Given the description of an element on the screen output the (x, y) to click on. 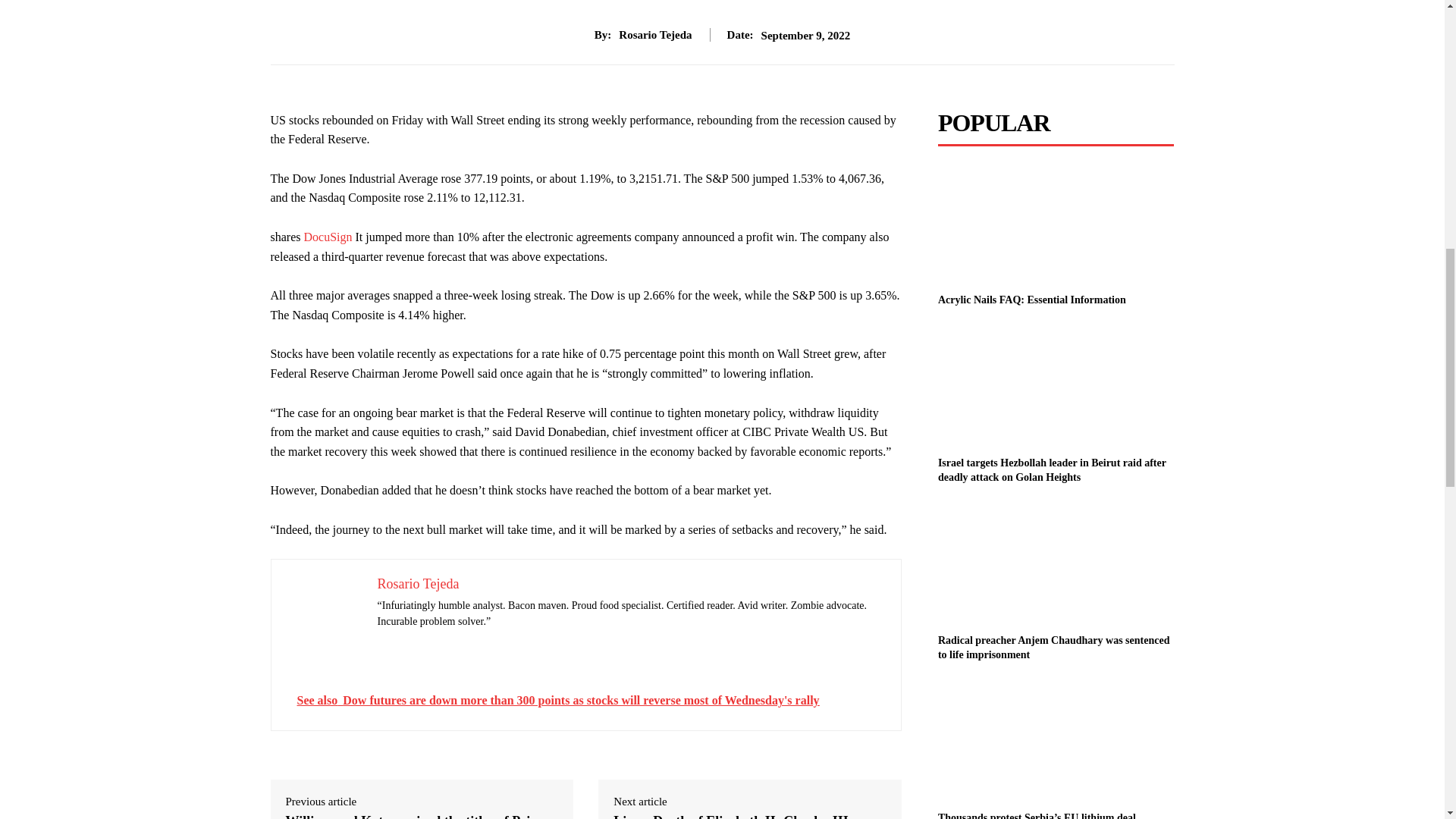
Acrylic Nails FAQ: Essential Information (1055, 224)
Acrylic Nails FAQ: Essential Information (1031, 299)
